Given the description of an element on the screen output the (x, y) to click on. 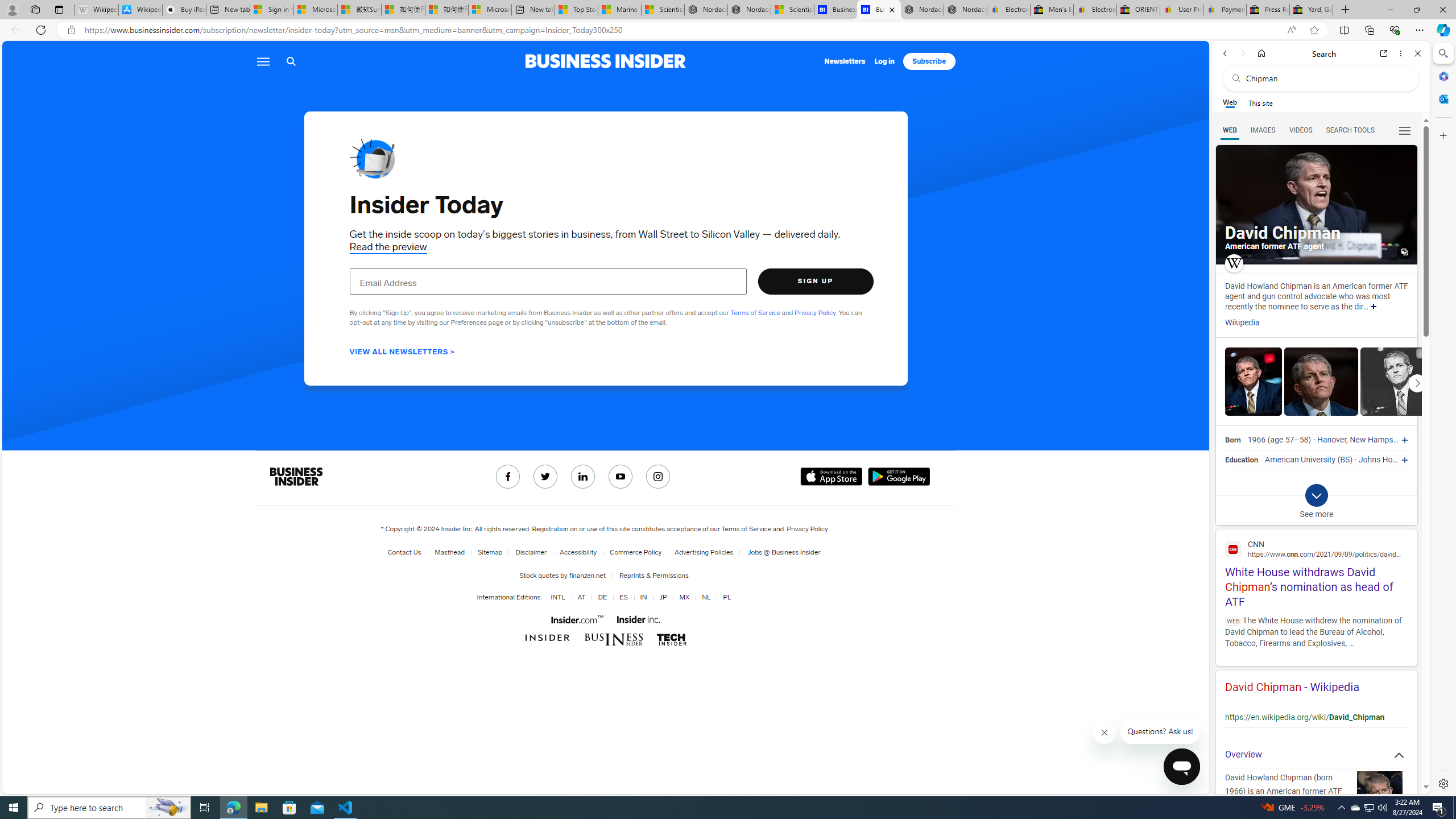
Reprints & Permissions (651, 575)
BS (1344, 460)
Jobs @ Business Insider (780, 552)
Close message from company (1104, 732)
